Given the description of an element on the screen output the (x, y) to click on. 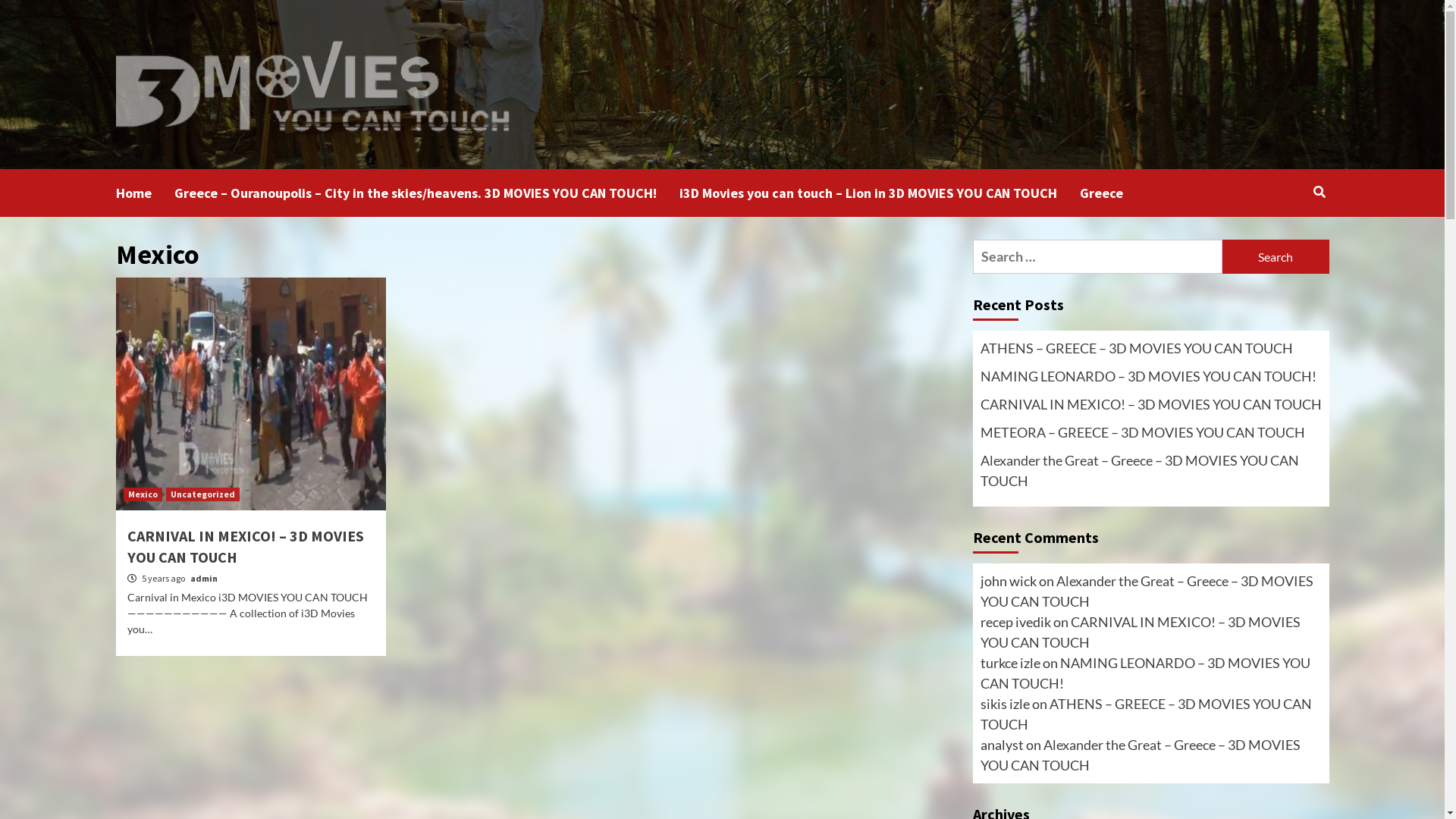
Mexico Element type: text (141, 494)
Search Element type: text (1275, 256)
Search Element type: text (1283, 240)
Search Element type: hover (1319, 191)
Uncategorized Element type: text (201, 494)
Greece Element type: text (1112, 192)
admin Element type: text (202, 577)
Home Element type: text (144, 192)
